Given the description of an element on the screen output the (x, y) to click on. 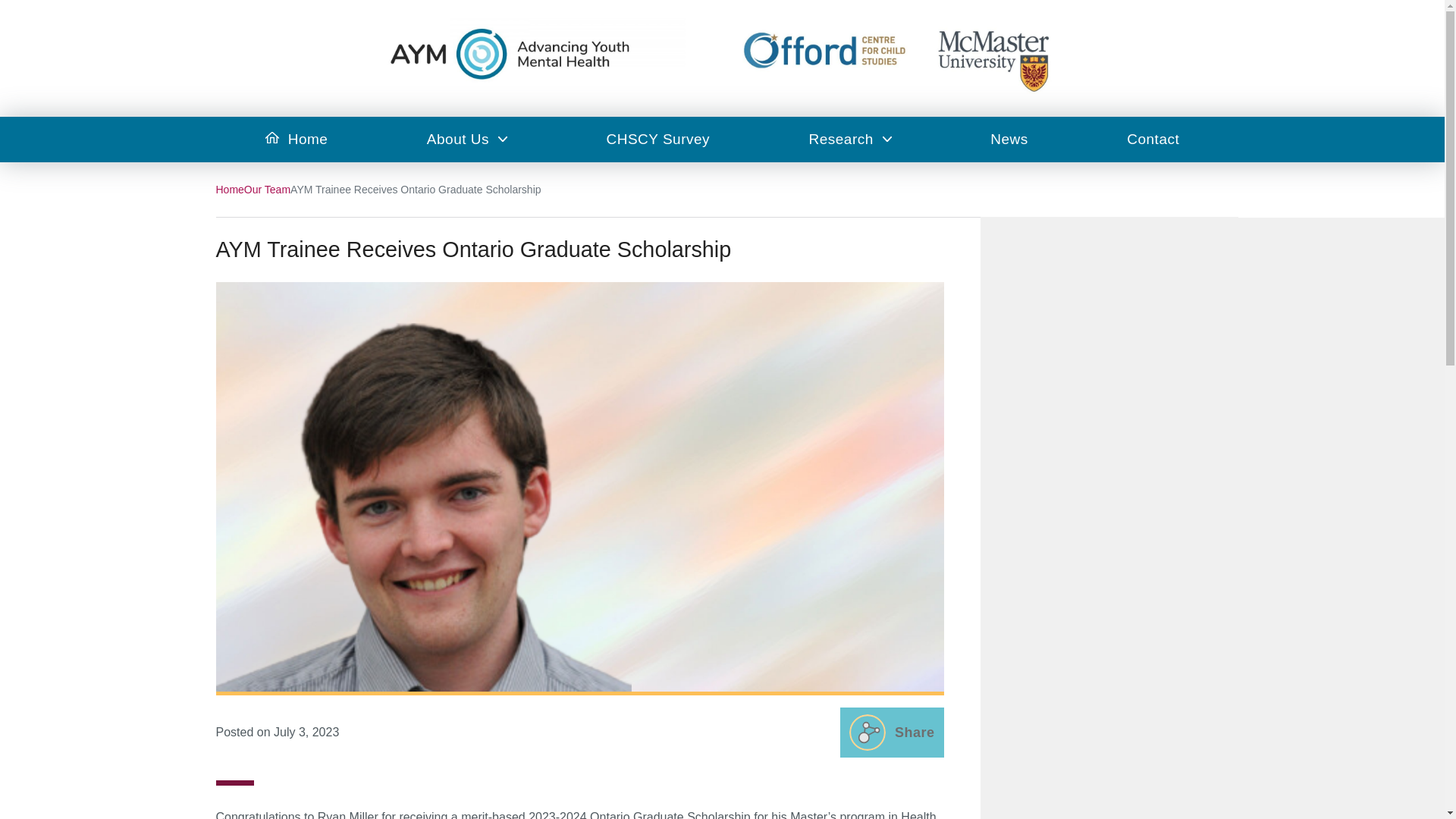
Home (229, 189)
Share (891, 732)
Go to the Our Team category archives. (266, 189)
Contact (1152, 139)
Home (296, 139)
About Us (467, 139)
News (1008, 139)
CHSCY Survey (657, 139)
Our Team (266, 189)
